Given the description of an element on the screen output the (x, y) to click on. 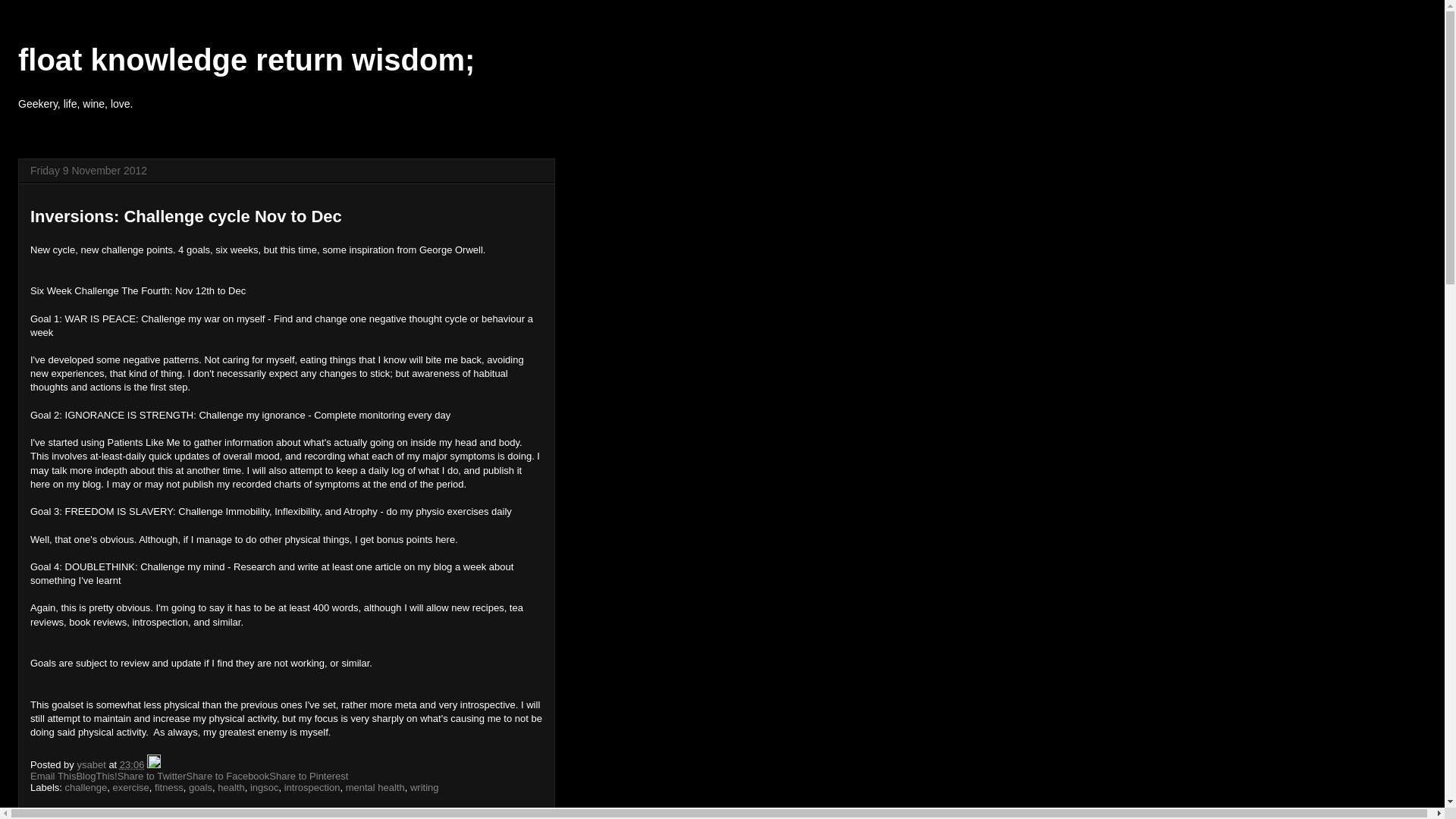
Share to Twitter Element type: text (151, 775)
ingsoc Element type: text (264, 787)
health Element type: text (230, 787)
exercise Element type: text (130, 787)
fitness Element type: text (168, 787)
23:06 Element type: text (131, 764)
challenge Element type: text (86, 787)
Email This Element type: text (52, 775)
BlogThis! Element type: text (95, 775)
ysabet Element type: text (92, 764)
introspection Element type: text (312, 787)
Share to Pinterest Element type: text (308, 775)
mental health Element type: text (374, 787)
Edit Post Element type: hover (153, 764)
goals Element type: text (200, 787)
Share to Facebook Element type: text (227, 775)
writing Element type: text (424, 787)
float knowledge return wisdom; Element type: text (246, 59)
